Given the description of an element on the screen output the (x, y) to click on. 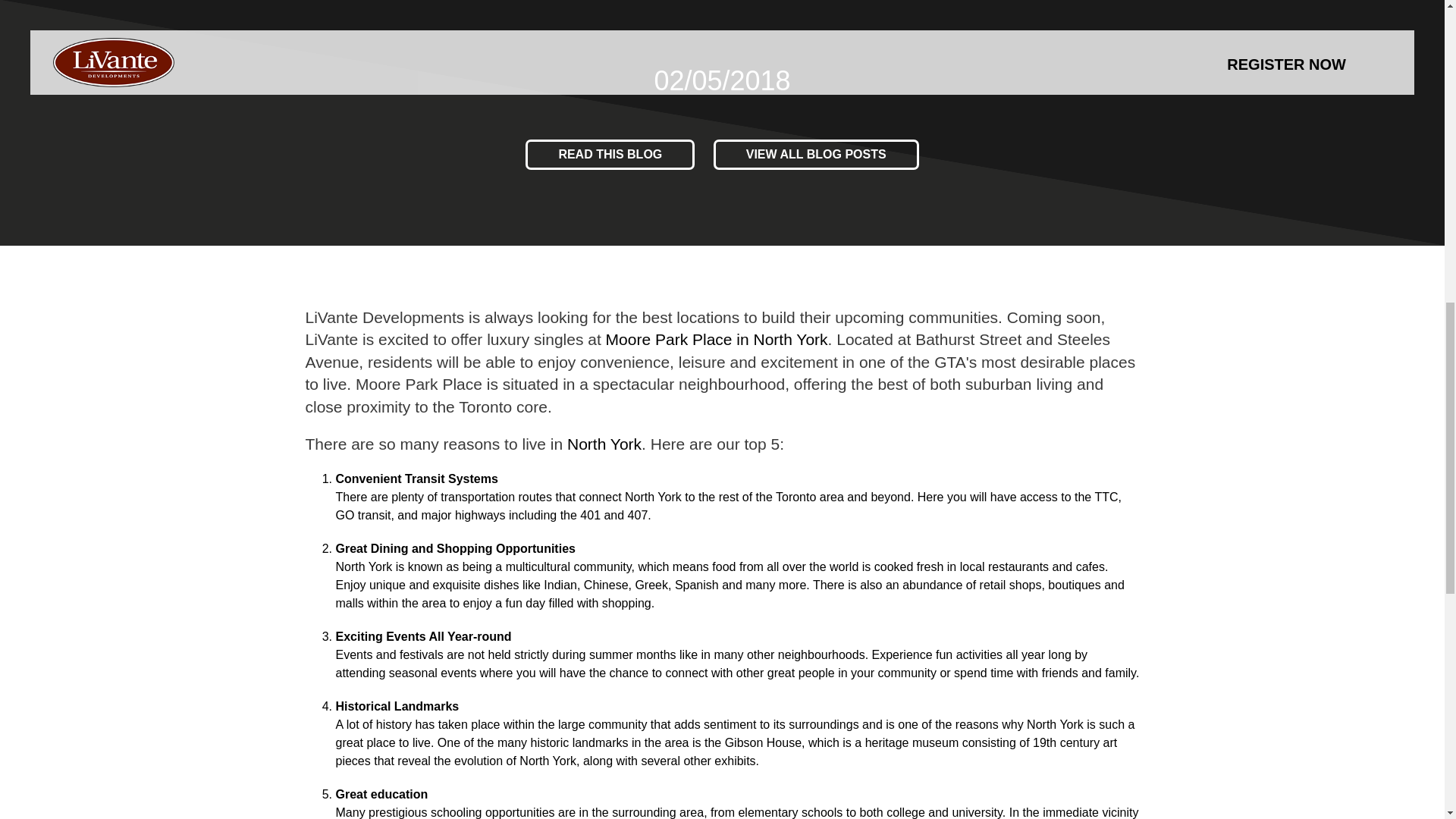
READ THIS BLOG (609, 154)
Moore Park Place in North York (716, 339)
North York (604, 443)
VIEW ALL BLOG POSTS (815, 154)
